Given the description of an element on the screen output the (x, y) to click on. 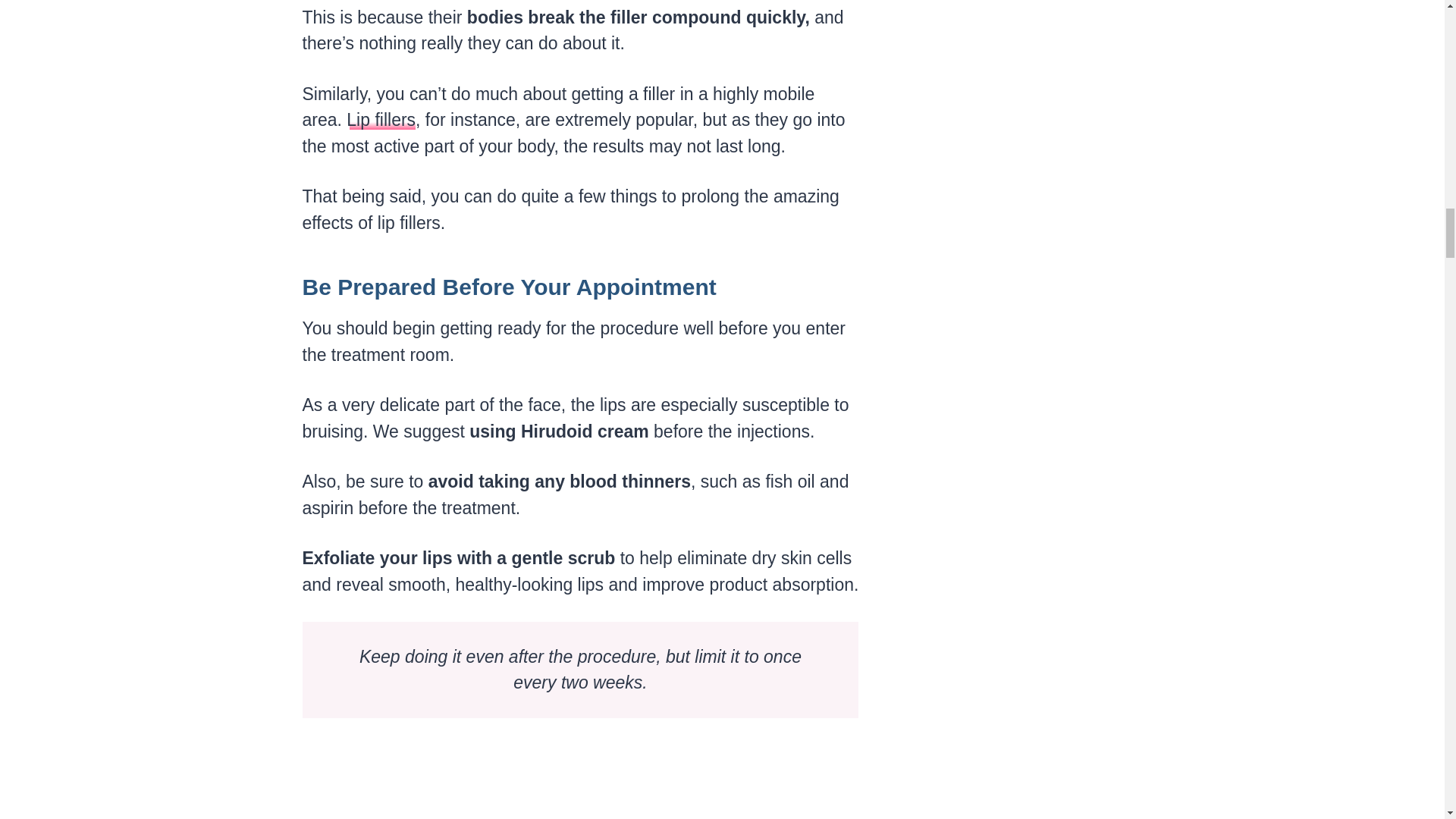
How to Make Lip Fillers Last Longer with Ease? 4 (578, 780)
Lip fillers (380, 119)
